Given the description of an element on the screen output the (x, y) to click on. 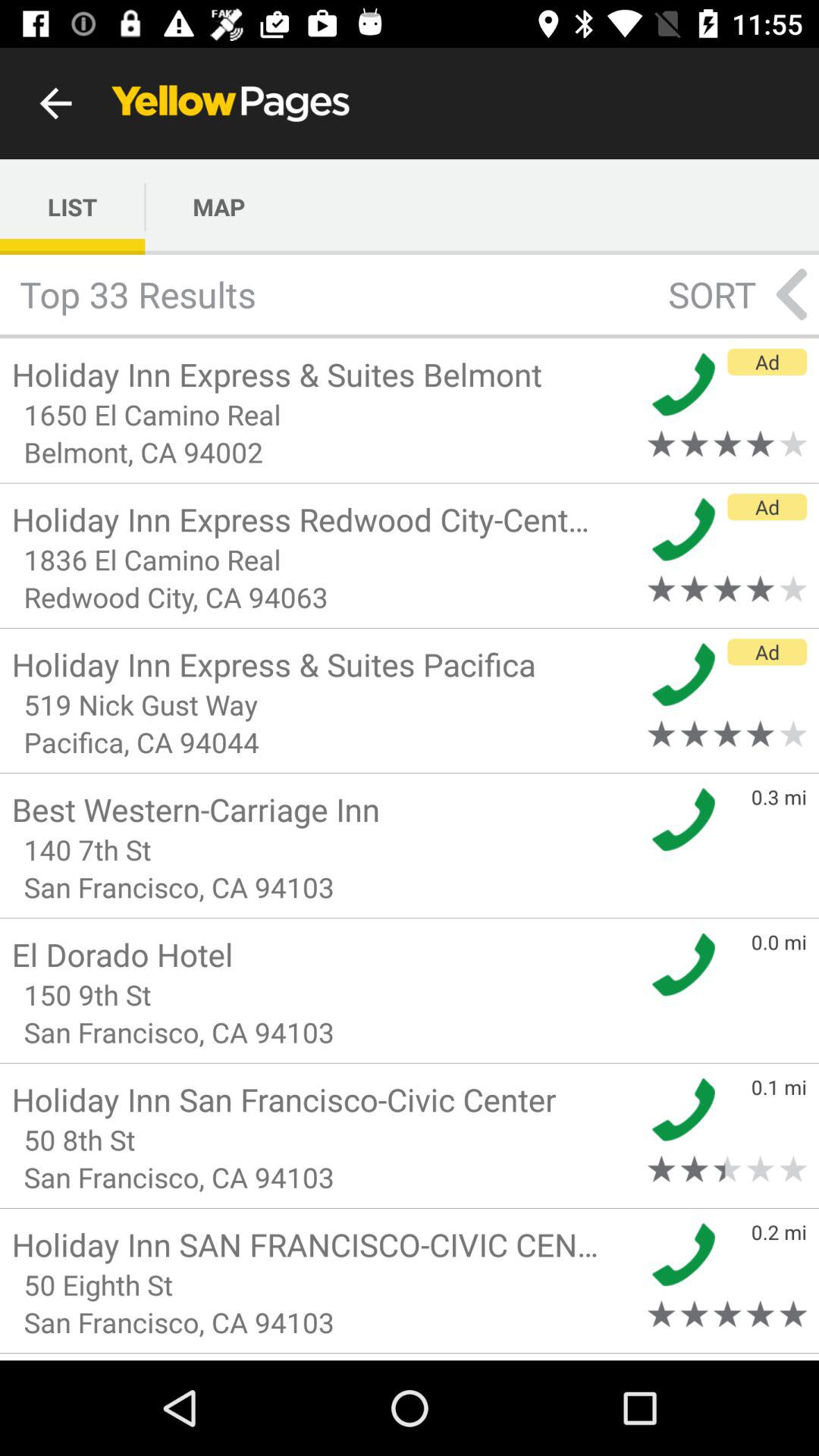
swipe until the el dorado hotel (324, 953)
